Given the description of an element on the screen output the (x, y) to click on. 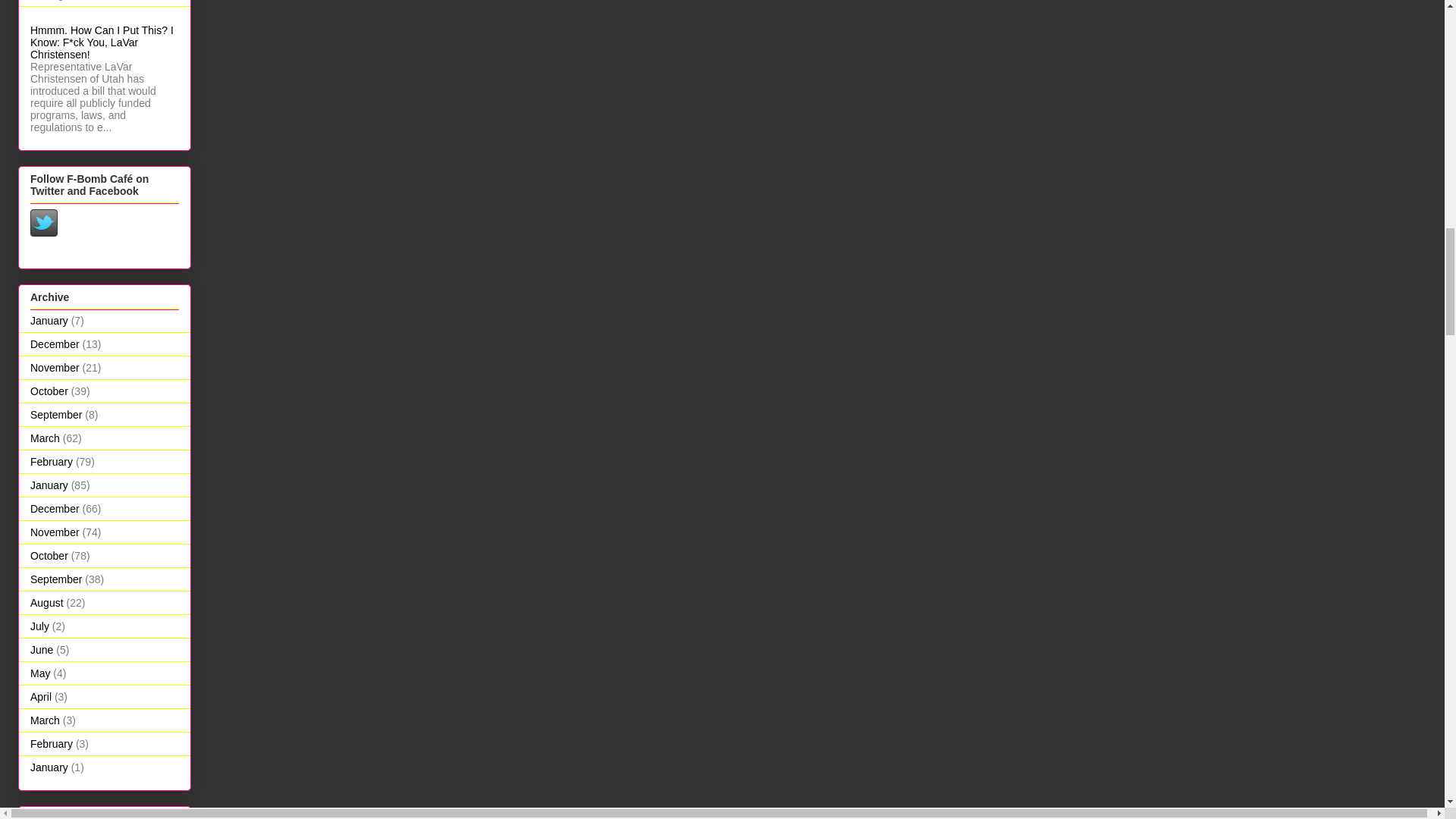
January (49, 485)
October (49, 390)
January (49, 320)
December (55, 344)
March (44, 438)
February (51, 461)
November (55, 367)
September (55, 414)
